Given the description of an element on the screen output the (x, y) to click on. 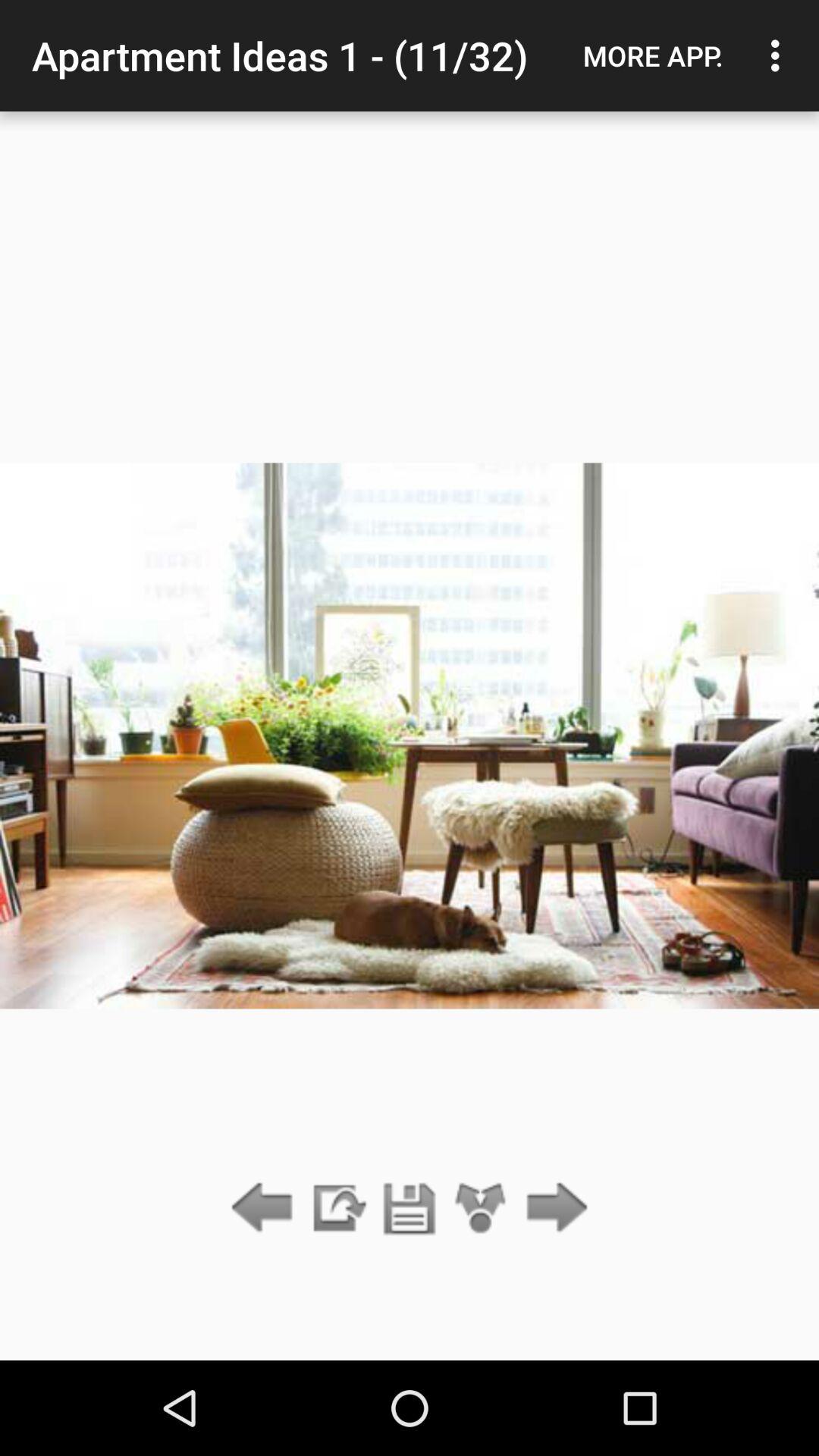
select the icon below apartment ideas 1 item (337, 1208)
